Given the description of an element on the screen output the (x, y) to click on. 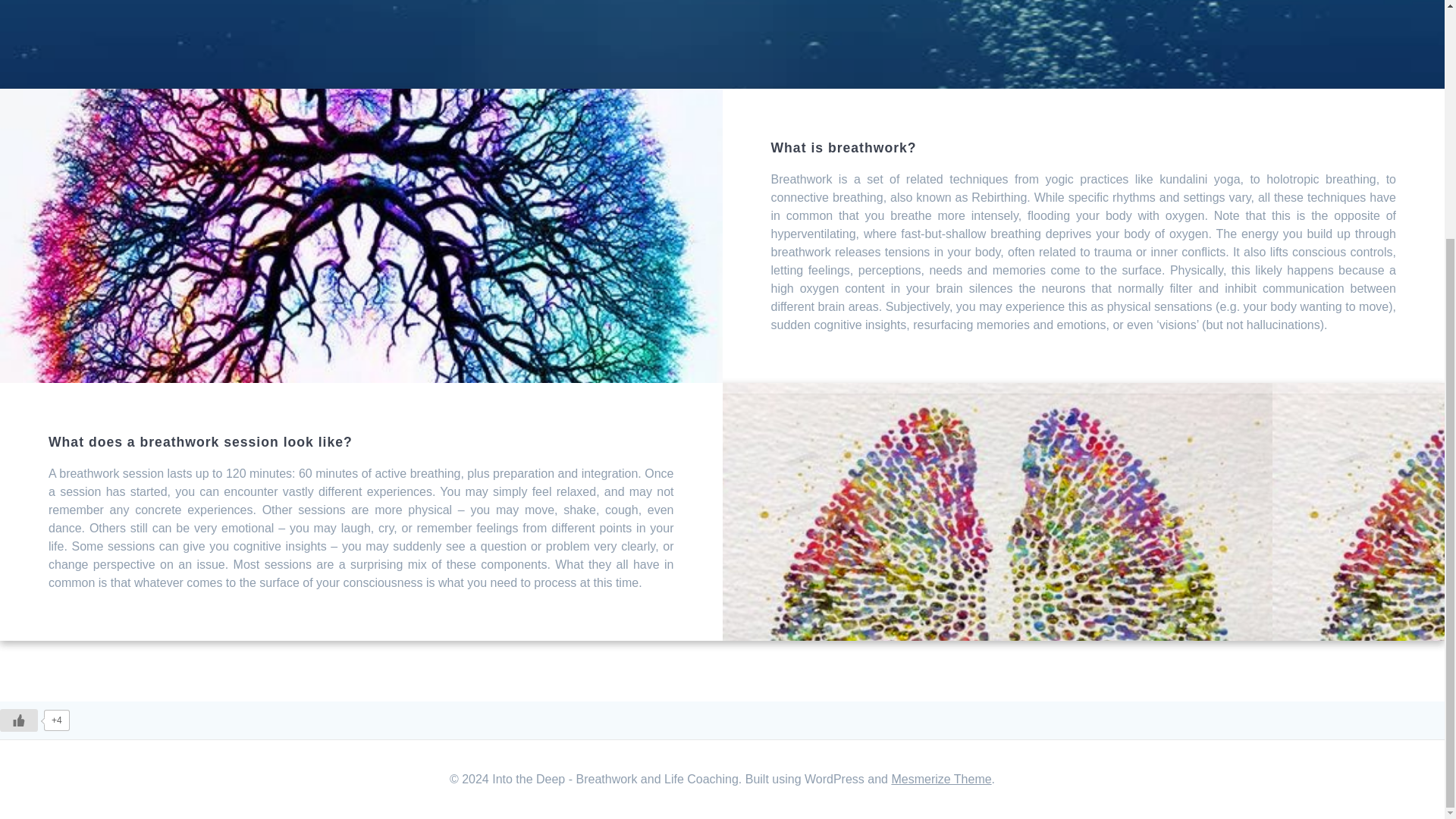
Mesmerize Theme (941, 779)
